Given the description of an element on the screen output the (x, y) to click on. 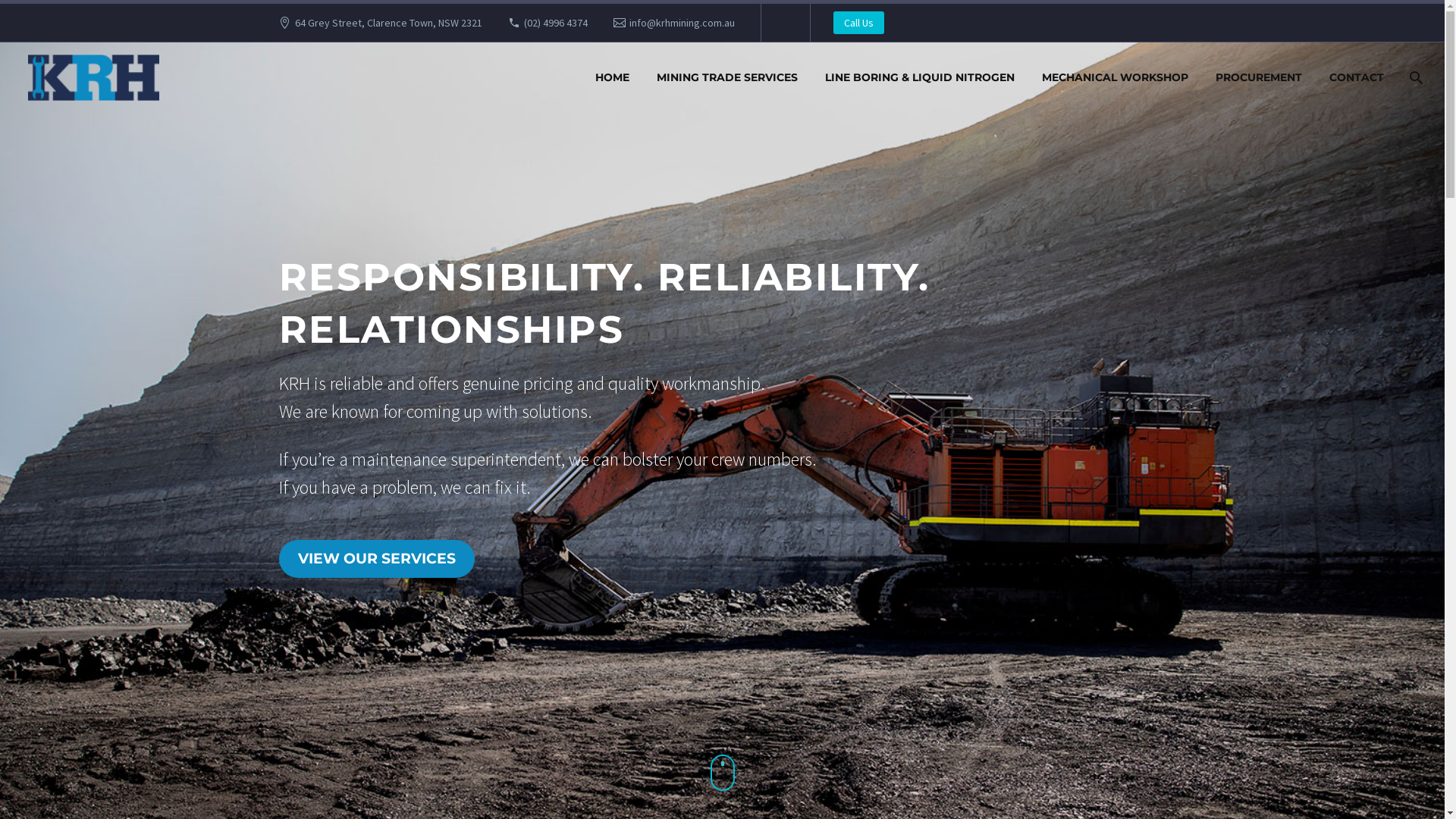
VIEW OUR SERVICES Element type: text (376, 558)
MECHANICAL WORKSHOP Element type: text (1114, 77)
mouse Element type: text (721, 772)
CONTACT Element type: text (1356, 77)
Call Us Element type: text (858, 22)
LINE BORING & LIQUID NITROGEN Element type: text (919, 77)
info@krhmining.com.au Element type: text (681, 22)
MINING TRADE SERVICES Element type: text (727, 77)
(02) 4996 4374 Element type: text (555, 22)
PROCUREMENT Element type: text (1258, 77)
HOME Element type: text (611, 77)
